Given the description of an element on the screen output the (x, y) to click on. 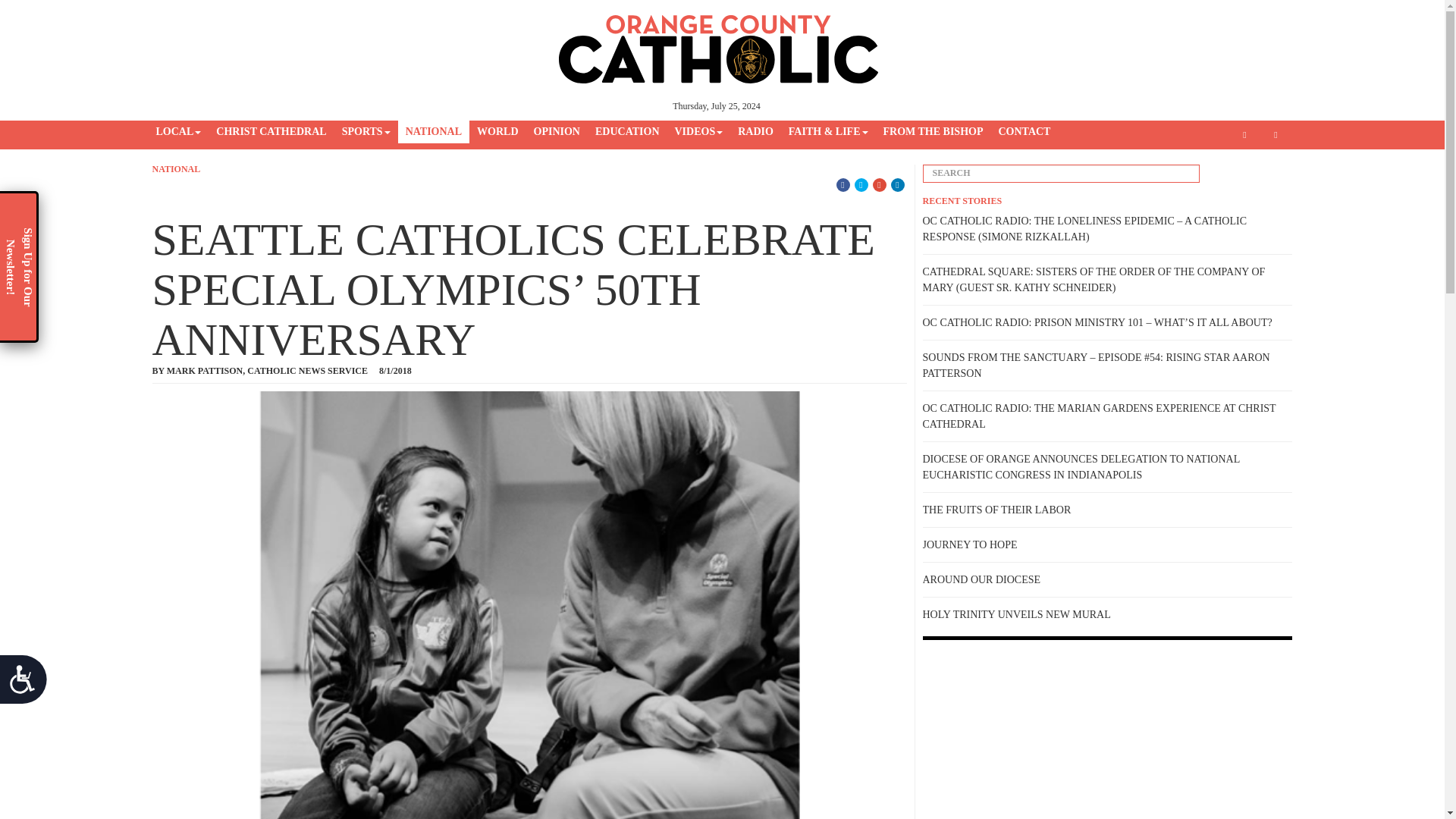
National (175, 168)
LOCAL (178, 131)
RADIO (755, 131)
CONTACT (1024, 131)
OPINION (556, 131)
EDUCATION (627, 131)
Accessibility (29, 685)
WORLD (496, 131)
NATIONAL (175, 168)
CHRIST CATHEDRAL (270, 131)
VIDEOS (698, 131)
NATIONAL (432, 131)
FROM THE BISHOP (932, 131)
SPORTS (365, 131)
